Given the description of an element on the screen output the (x, y) to click on. 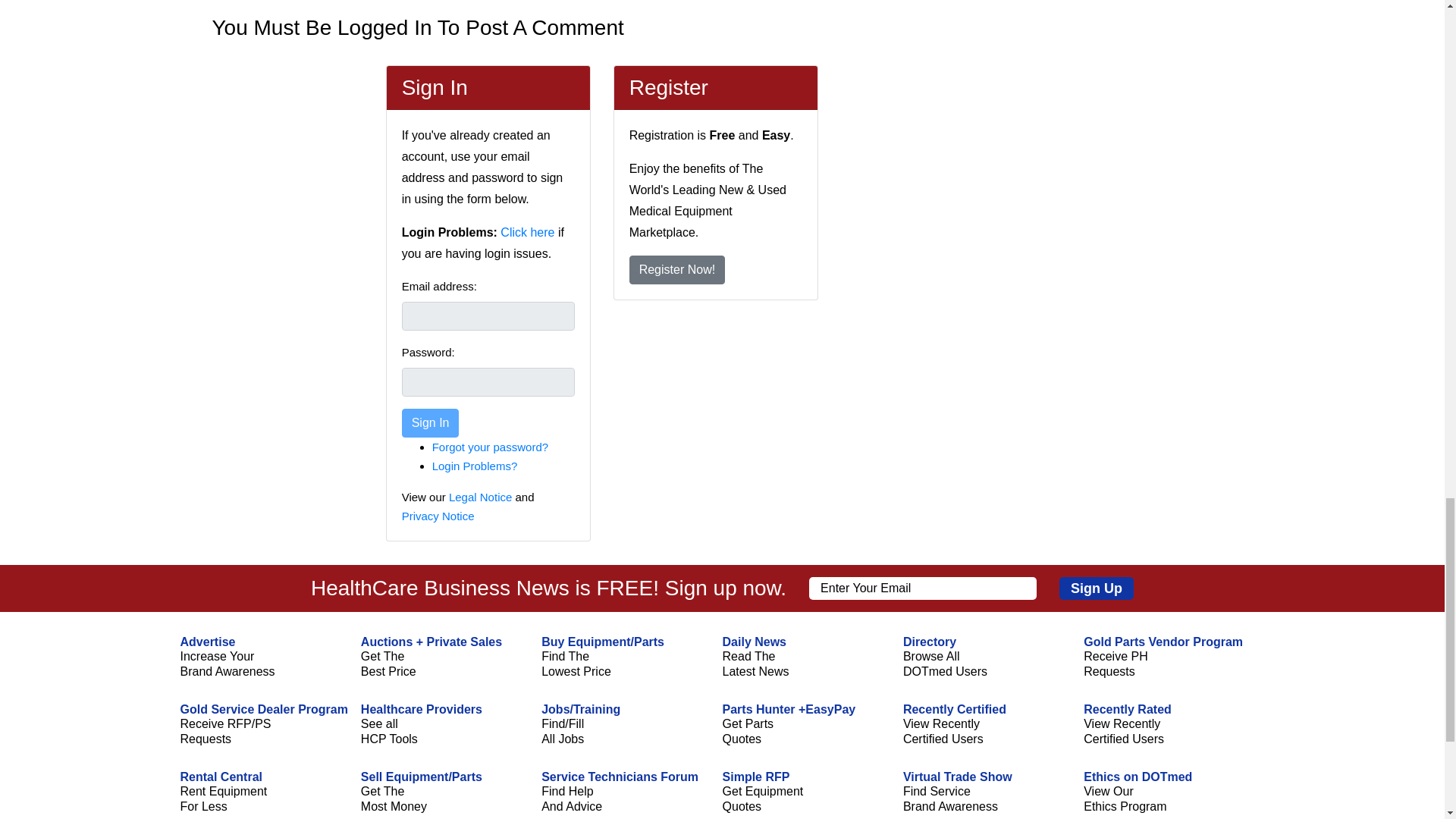
Login Problems? (475, 465)
Sign In (430, 422)
Forget your password? (490, 446)
Register Now! (676, 269)
